Given the description of an element on the screen output the (x, y) to click on. 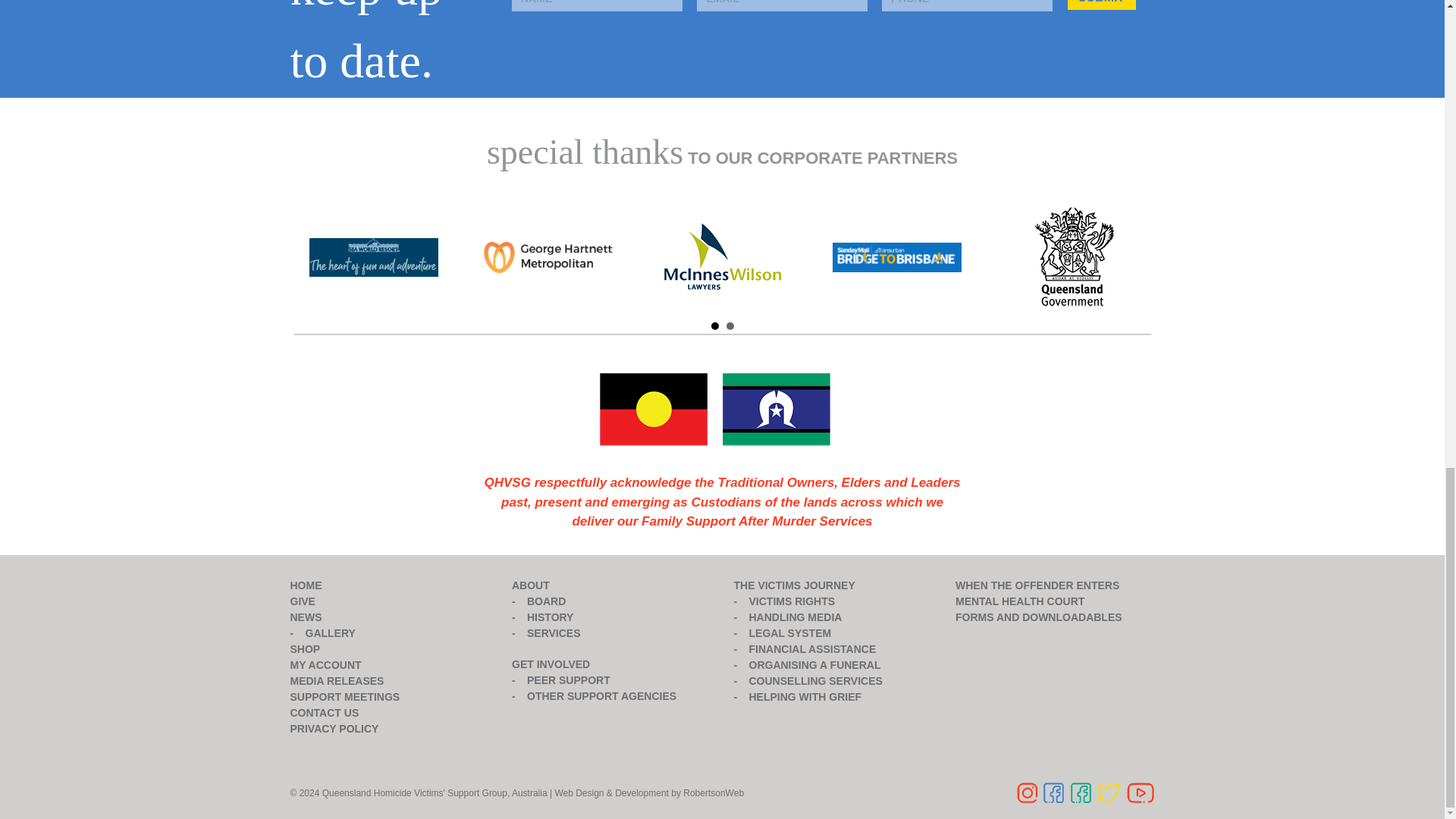
Instagram (1024, 792)
SUBMIT (1101, 4)
SUBMIT (1101, 4)
